Given the description of an element on the screen output the (x, y) to click on. 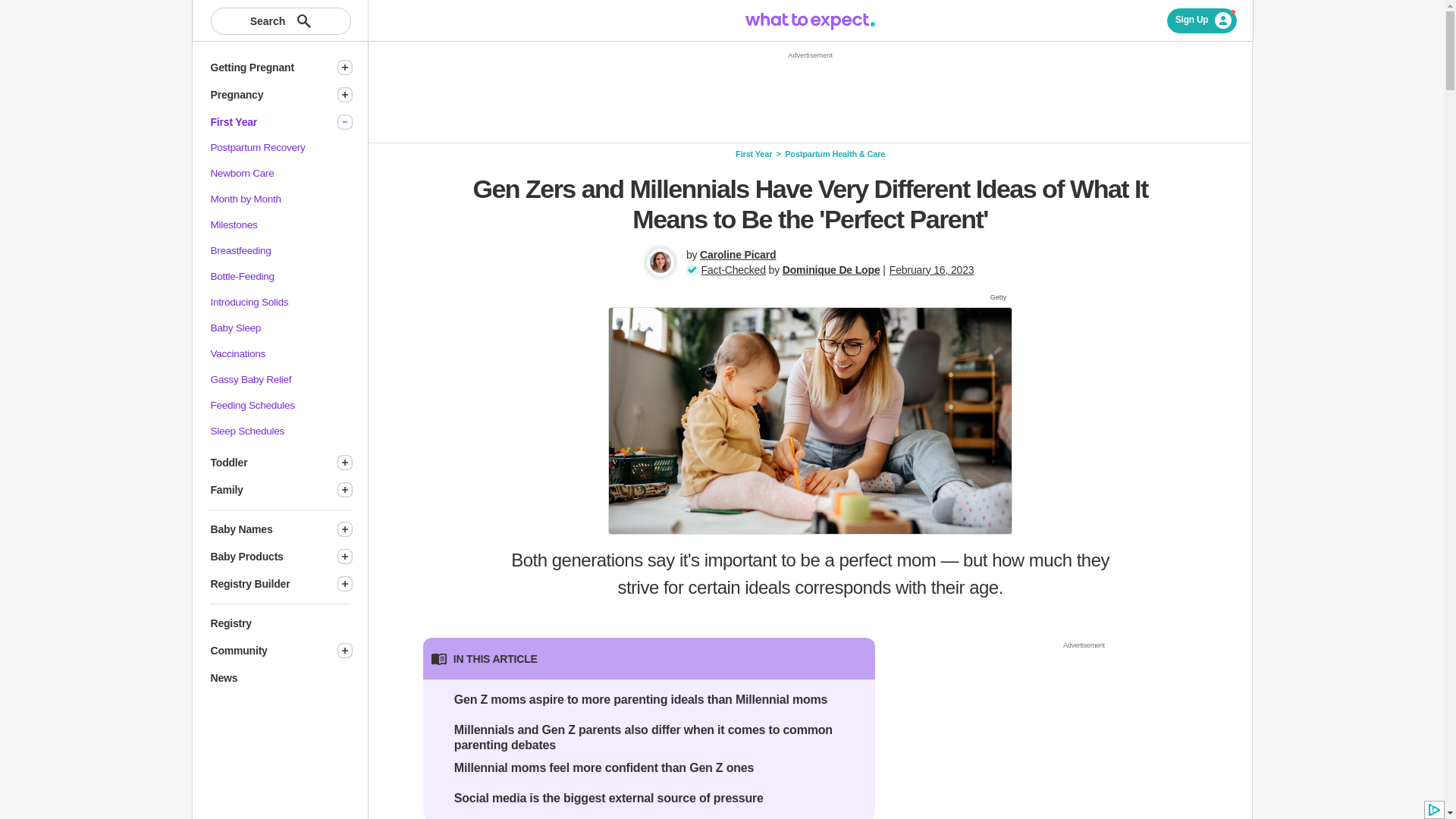
Getting Pregnant (267, 67)
Pregnancy (267, 94)
Newborn Care (243, 173)
Sign Up (1202, 20)
Search (280, 21)
First Year (267, 122)
Postpartum Recovery (258, 147)
